Given the description of an element on the screen output the (x, y) to click on. 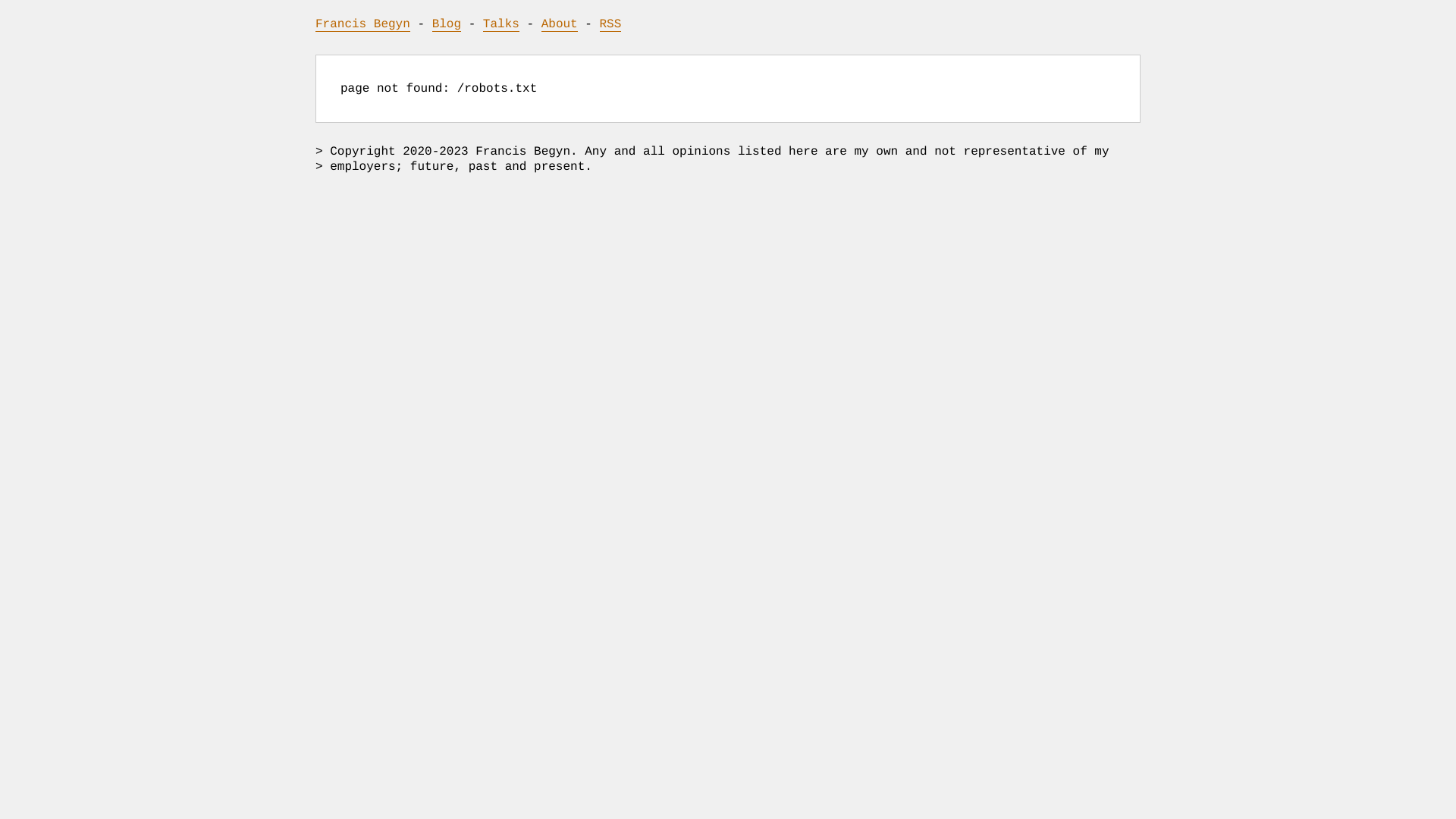
Blog Element type: text (446, 24)
Francis Begyn Element type: text (362, 24)
About Element type: text (559, 24)
Talks Element type: text (501, 24)
RSS Element type: text (610, 24)
